Given the description of an element on the screen output the (x, y) to click on. 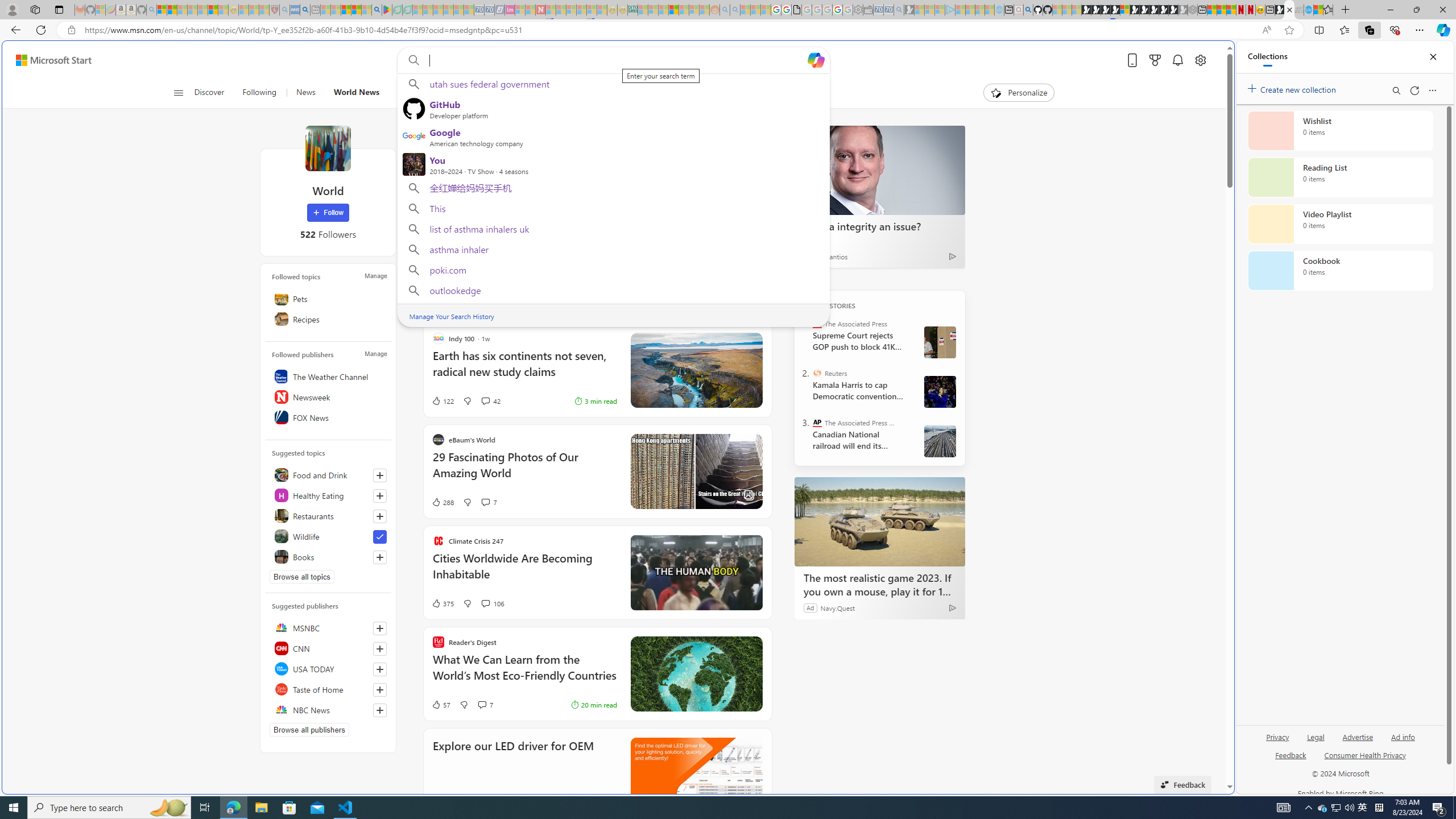
github - Search (1028, 9)
